Given the description of an element on the screen output the (x, y) to click on. 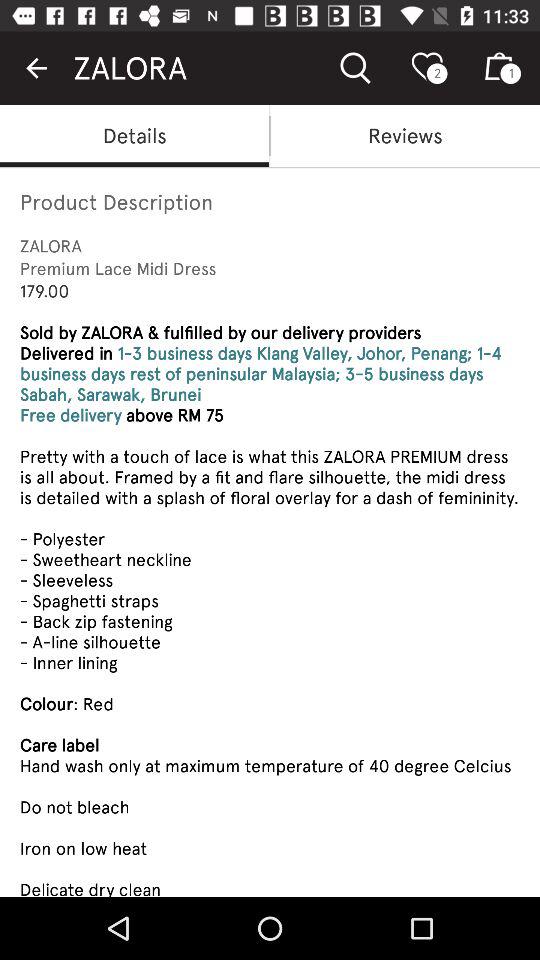
select the details icon (134, 135)
